Given the description of an element on the screen output the (x, y) to click on. 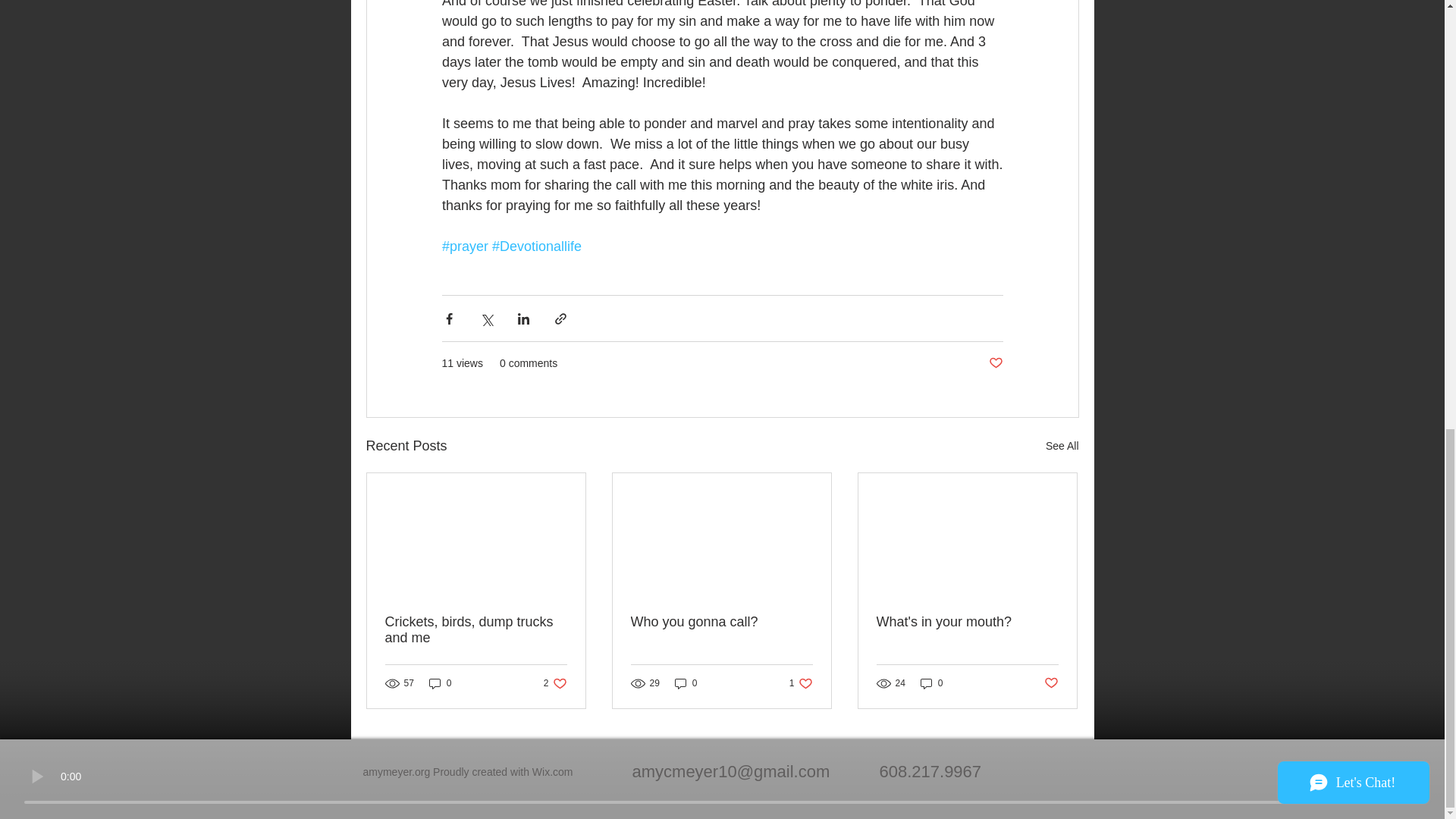
0 (931, 683)
Post not marked as liked (995, 363)
0 (440, 683)
0 (685, 683)
See All (1061, 445)
Crickets, birds, dump trucks and me (555, 683)
Wix.com (800, 683)
What's in your mouth? (476, 630)
Post not marked as liked (552, 771)
Who you gonna call? (967, 621)
